Given the description of an element on the screen output the (x, y) to click on. 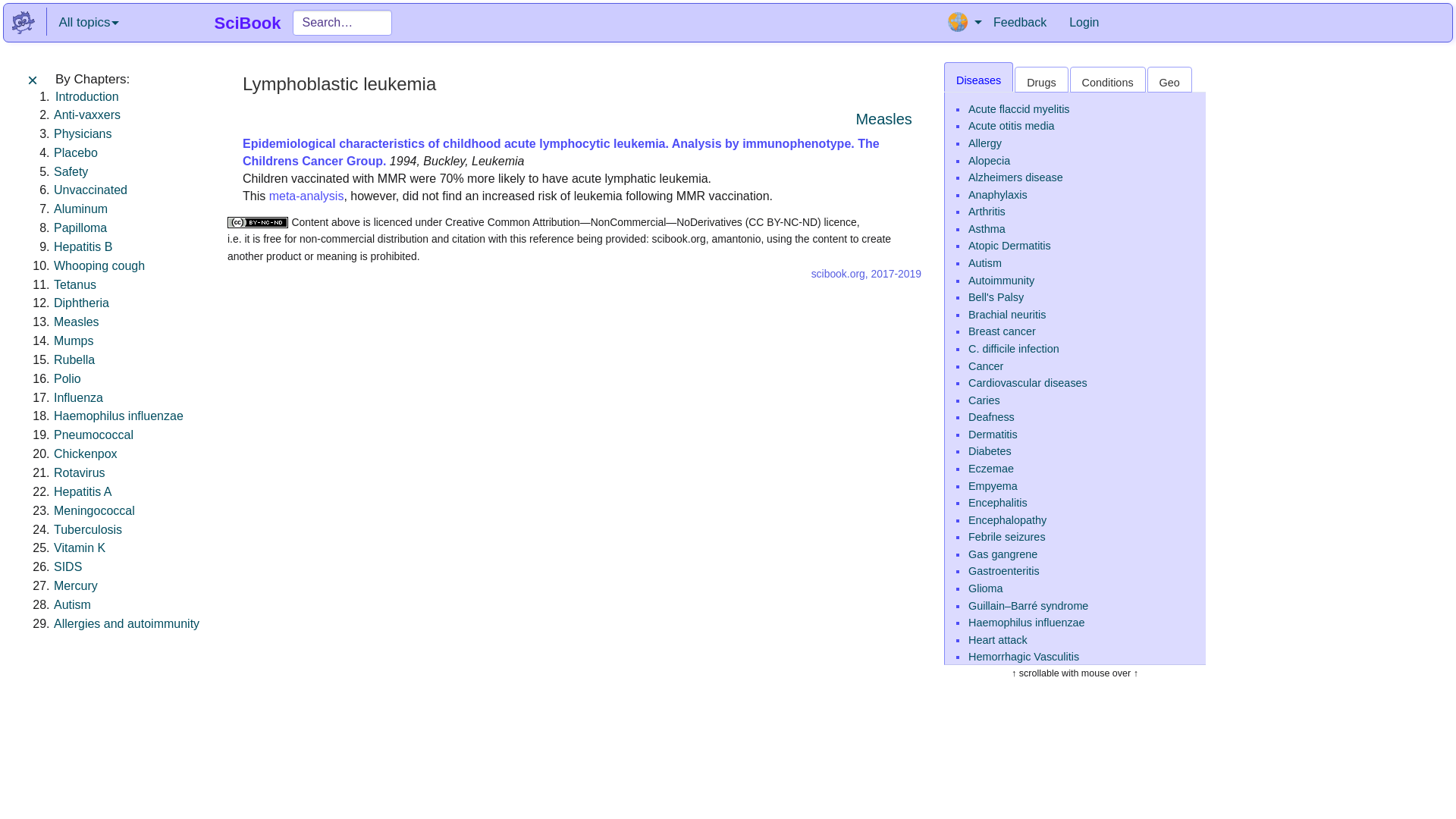
Polio (67, 378)
All topics (88, 22)
Papilloma (79, 227)
Anti-vaxxers (86, 114)
Introduction (86, 96)
Tuberculosis (87, 529)
Feedback (1019, 22)
Pneumococcal (93, 434)
Measles (76, 321)
Vitamin K (78, 547)
